Given the description of an element on the screen output the (x, y) to click on. 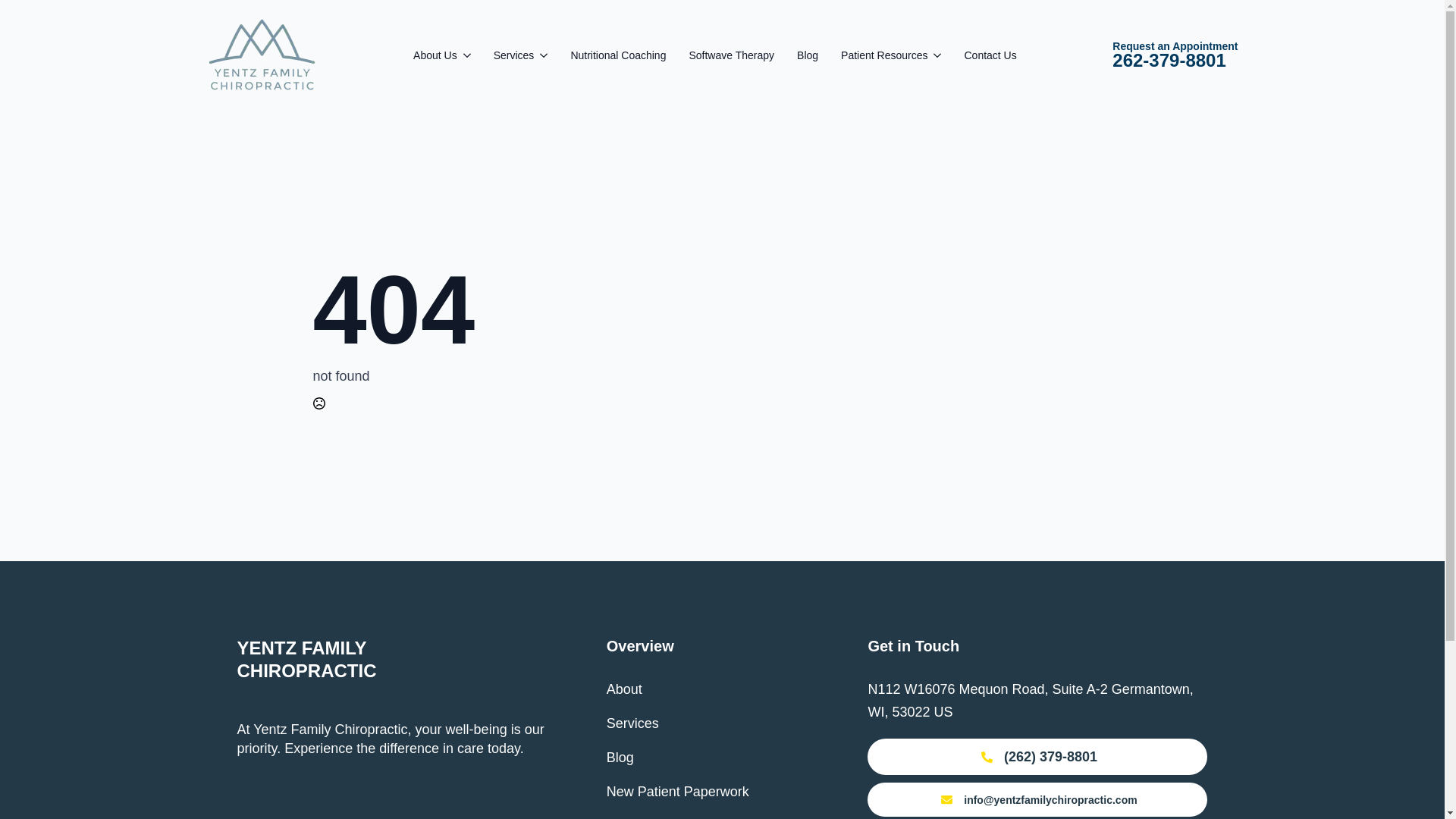
Services (513, 55)
New Patient Paperwork (678, 791)
Softwave Therapy (731, 55)
Blog (620, 757)
Services (633, 723)
About (624, 688)
Patient Resources (884, 55)
Contact Us (989, 55)
Nutritional Coaching (617, 55)
About Us (1174, 54)
N112 W16076 Mequon Road, Suite A-2 Germantown, WI, 53022 US (435, 55)
